Given the description of an element on the screen output the (x, y) to click on. 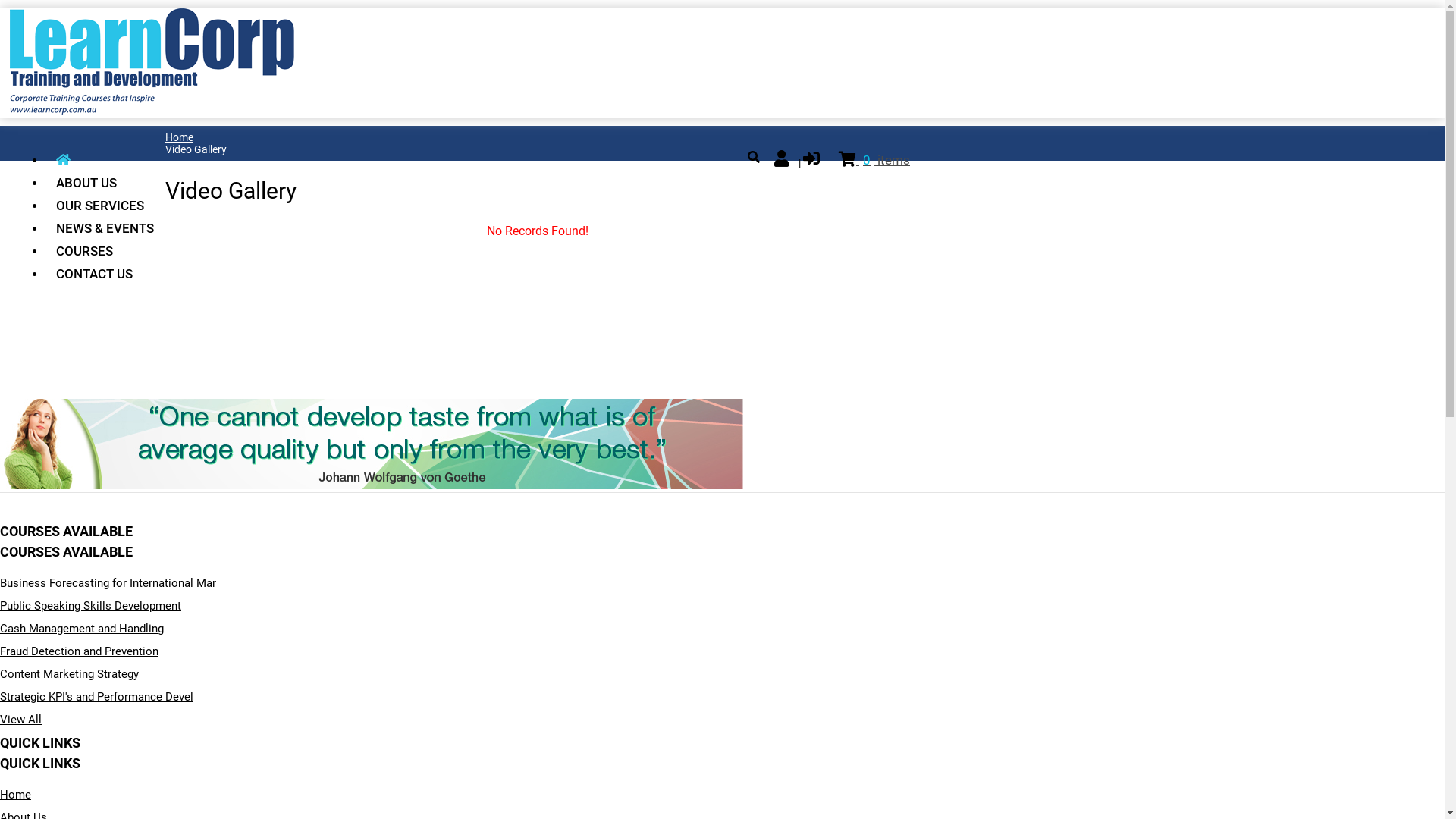
Fraud Detection and Prevention Element type: text (79, 651)
OUR SERVICES Element type: text (105, 205)
Strategic KPI's and Performance Devel Element type: text (96, 696)
Home Element type: text (179, 137)
home Element type: hover (105, 159)
0 items Element type: text (874, 159)
ABOUT US Element type: text (105, 182)
Business Forecasting for International Mar Element type: text (108, 582)
Public Speaking Skills Development Element type: text (90, 605)
CONTACT US Element type: text (105, 273)
View All Element type: text (20, 719)
Home Element type: text (15, 794)
NEWS & EVENTS Element type: text (105, 227)
COURSES Element type: text (105, 250)
Cash Management and Handling Element type: text (81, 628)
LearnCorp Training Element type: hover (152, 110)
Content Marketing Strategy Element type: text (69, 673)
